Given the description of an element on the screen output the (x, y) to click on. 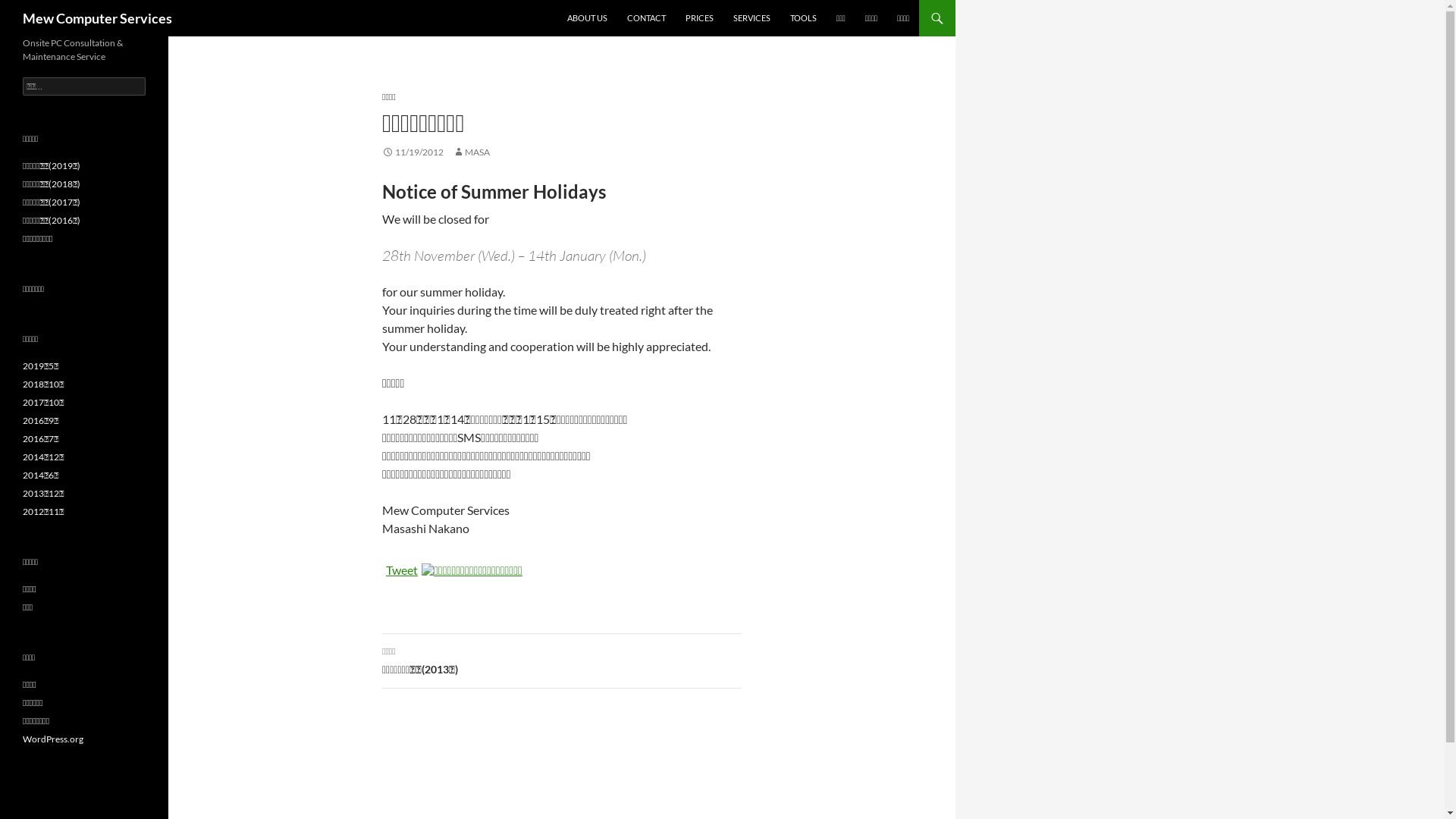
ABOUT US Element type: text (587, 18)
11/19/2012 Element type: text (412, 151)
TOOLS Element type: text (803, 18)
PRICES Element type: text (699, 18)
CONTACT Element type: text (646, 18)
SERVICES Element type: text (751, 18)
WordPress.org Element type: text (52, 738)
Mew Computer Services Element type: text (97, 18)
MASA Element type: text (470, 151)
Tweet Element type: text (401, 569)
